Given the description of an element on the screen output the (x, y) to click on. 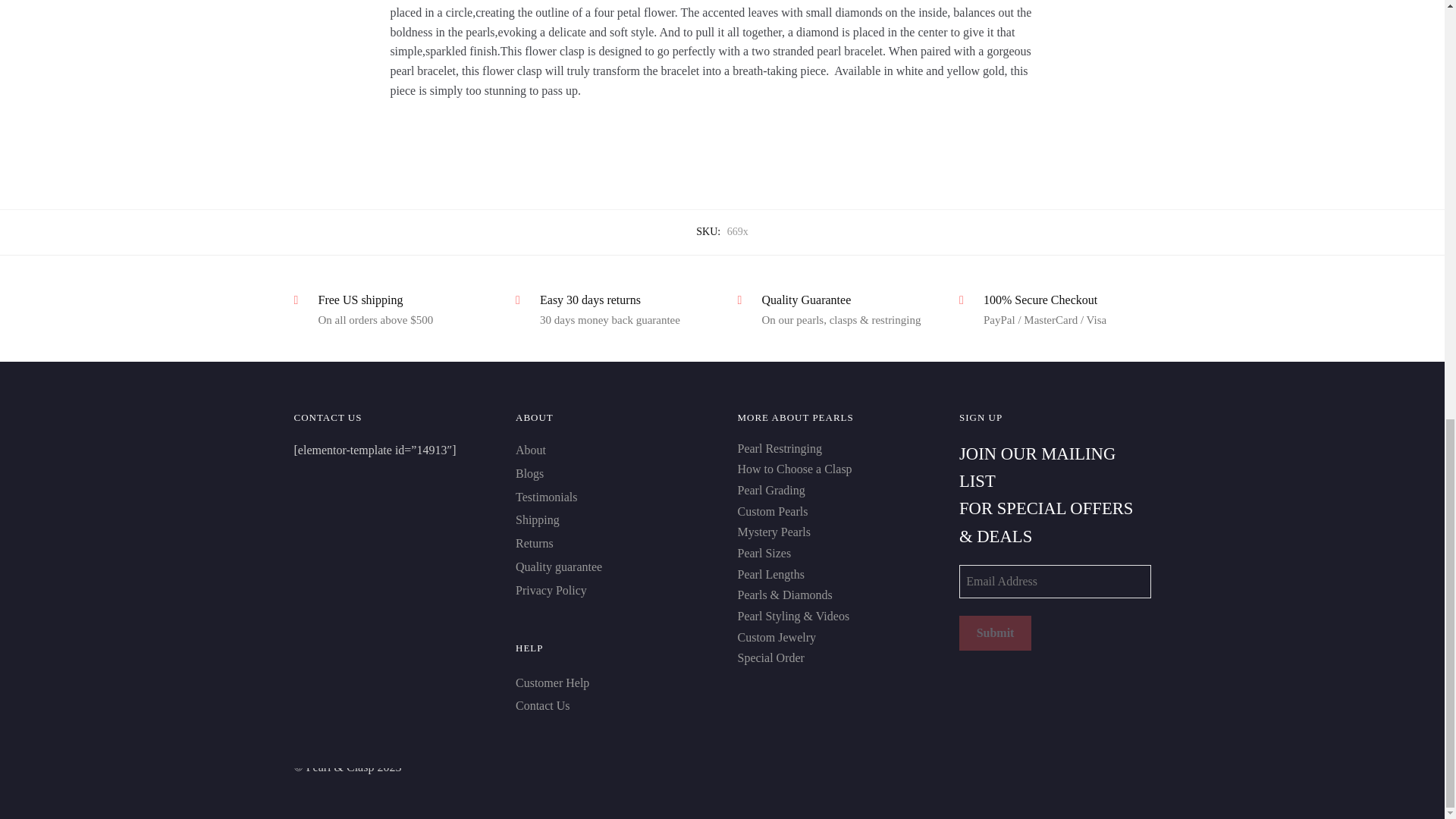
Submit (994, 632)
